Given the description of an element on the screen output the (x, y) to click on. 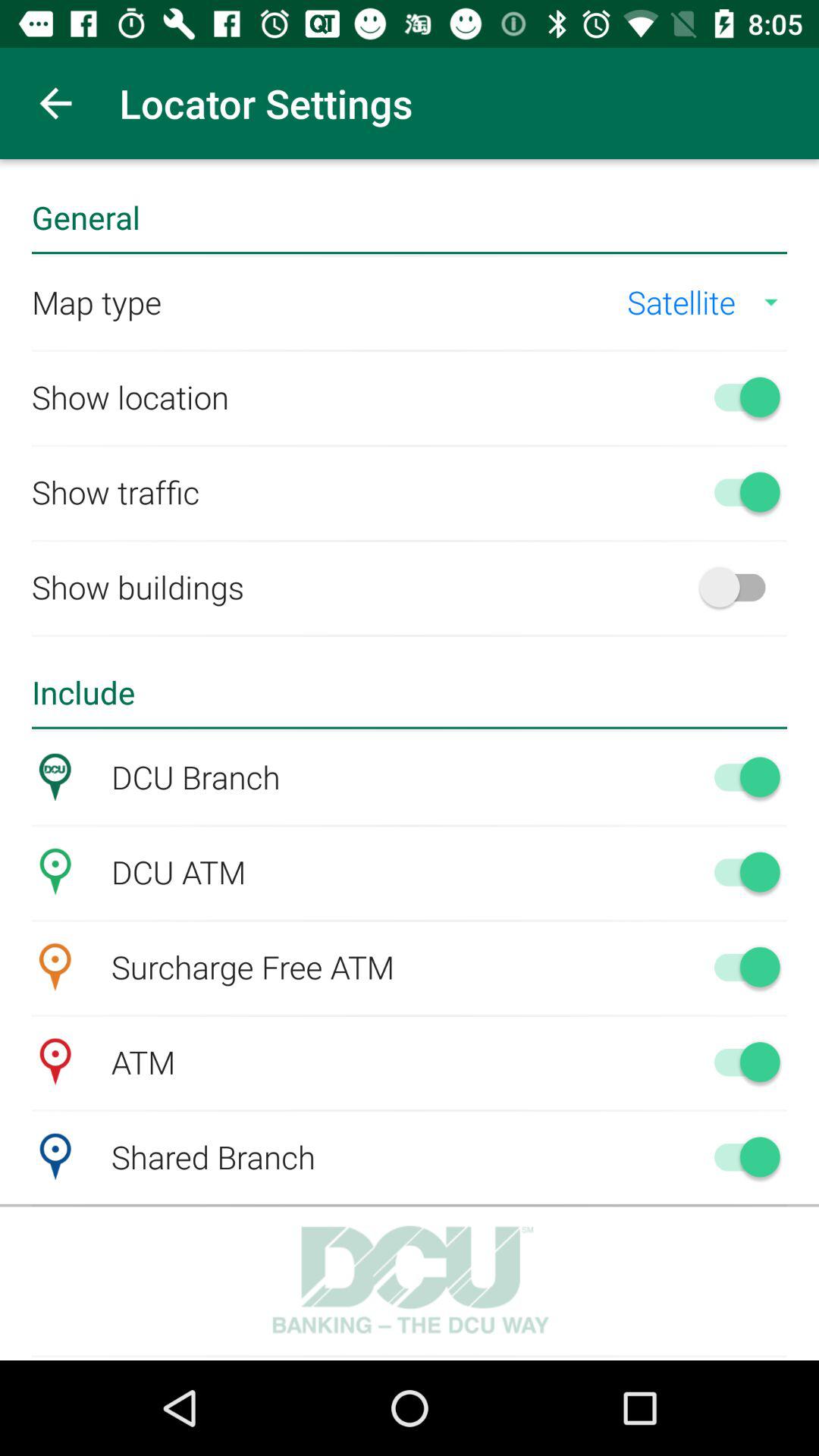
toggle surcharge free atm option (739, 966)
